Given the description of an element on the screen output the (x, y) to click on. 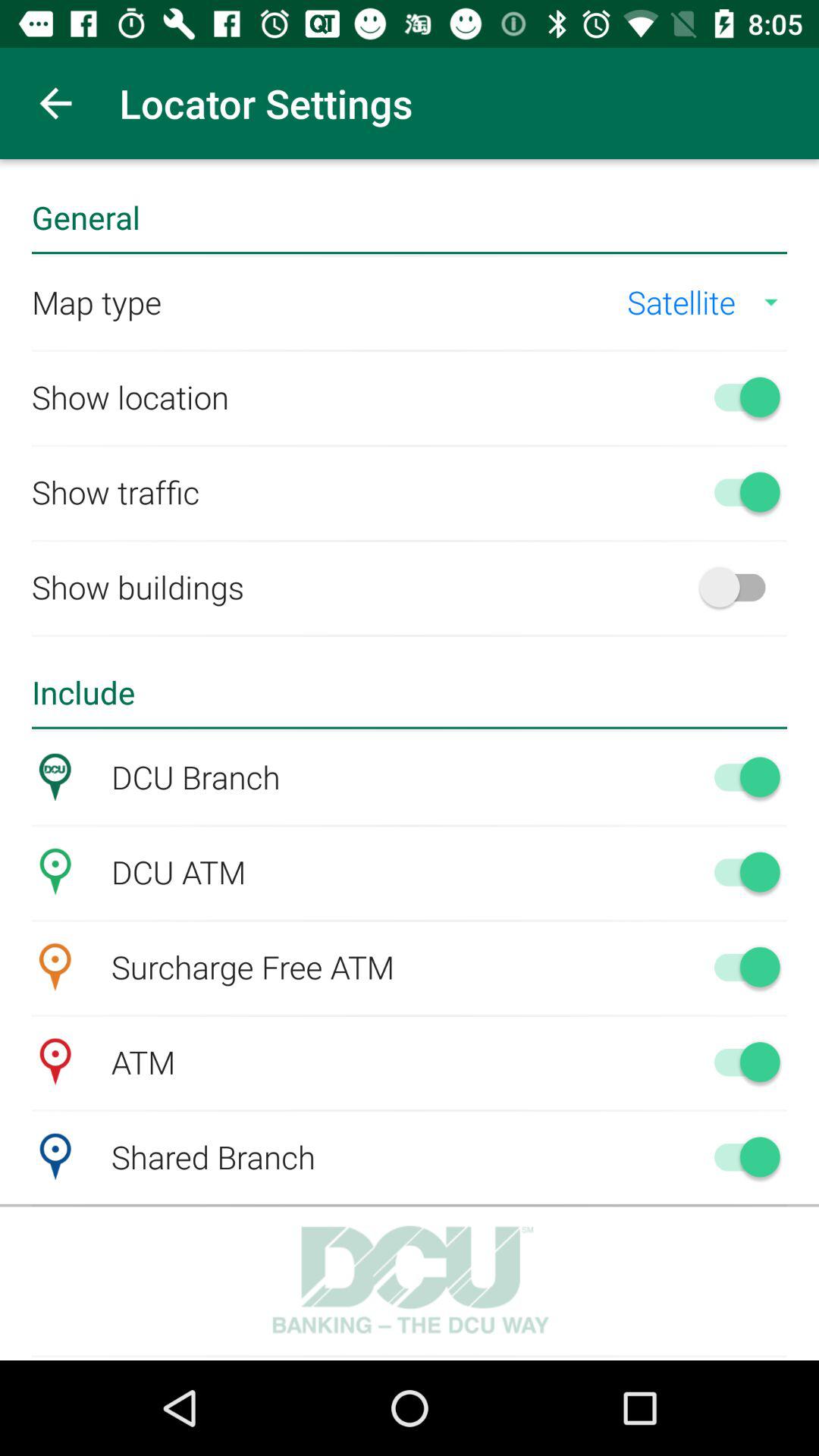
toggle surcharge free atm option (739, 966)
